Given the description of an element on the screen output the (x, y) to click on. 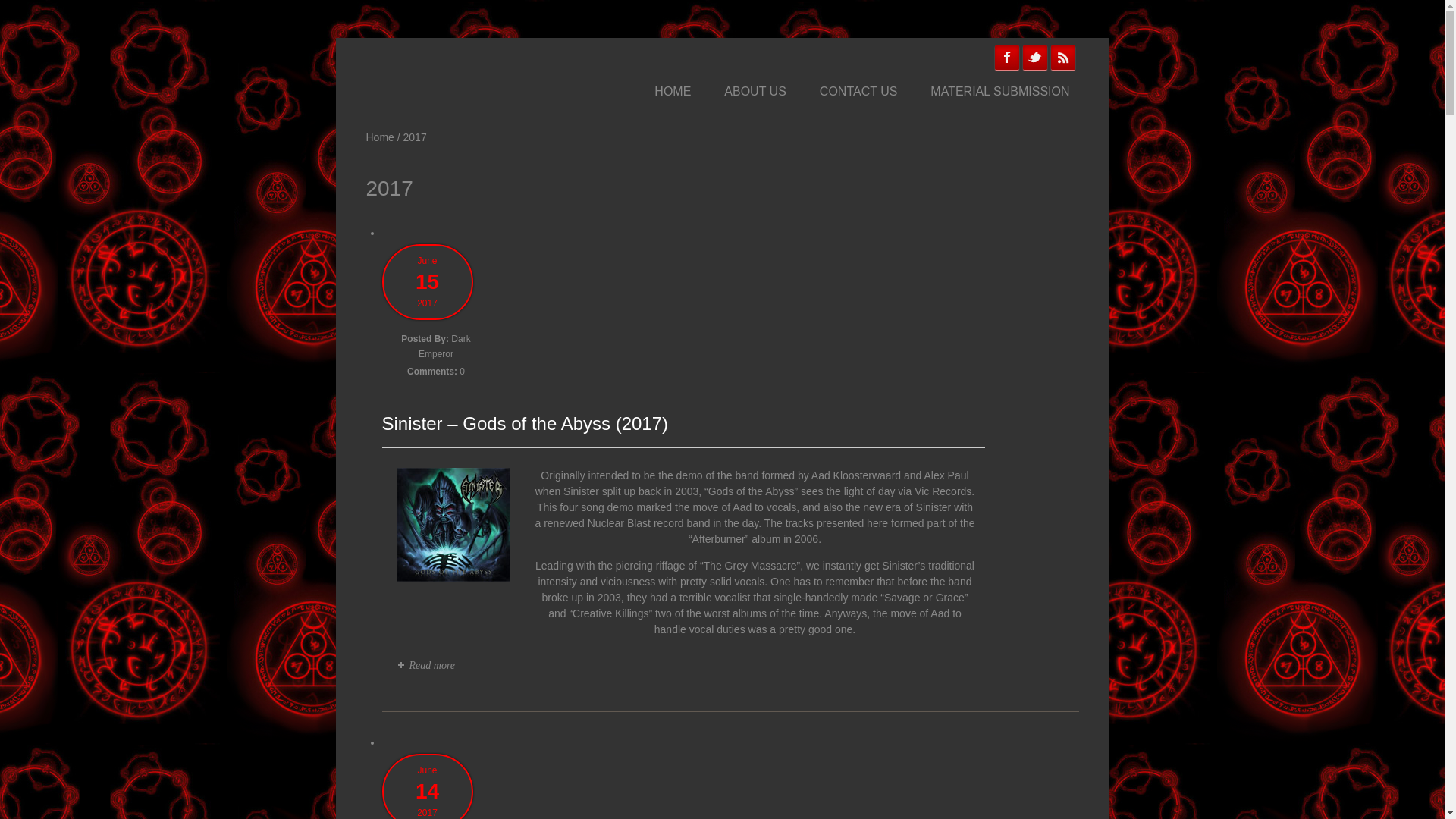
HOME (672, 91)
CONTACT US (858, 91)
Facebook (1006, 57)
ABOUT US (754, 91)
Twitter (1034, 57)
Home (379, 137)
RSS Feeds (1063, 57)
MATERIAL SUBMISSION (999, 91)
